Given the description of an element on the screen output the (x, y) to click on. 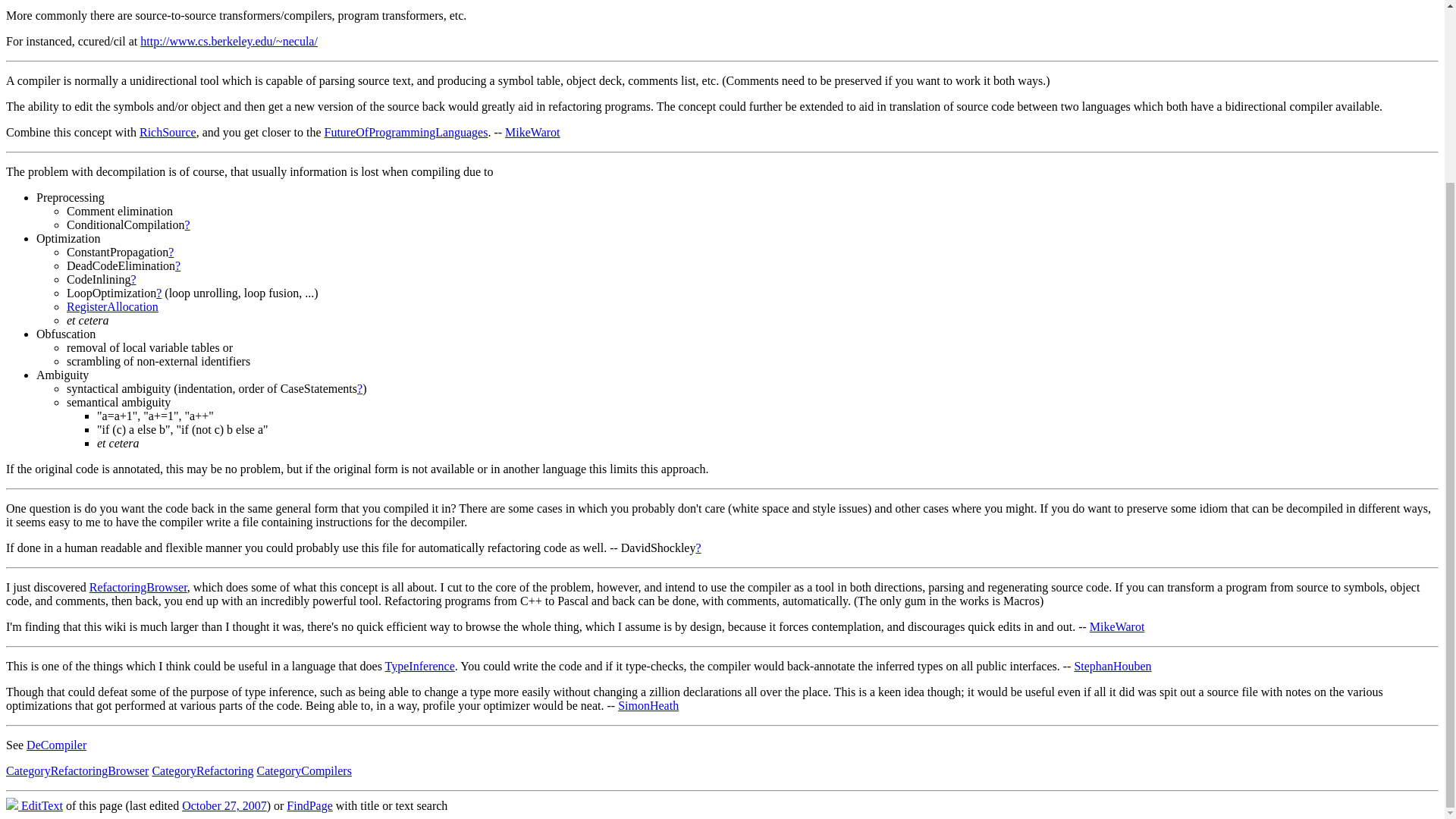
EditText (33, 805)
SimonHeath (647, 705)
StephanHouben (1112, 666)
CategoryCompilers (304, 770)
FindPage (308, 805)
MikeWarot (1116, 626)
RichSource (167, 132)
MikeWarot (532, 132)
TypeInference (419, 666)
CategoryRefactoringBrowser (76, 770)
FutureOfProgrammingLanguages (405, 132)
RefactoringBrowser (137, 586)
RegisterAllocation (112, 306)
CategoryRefactoring (202, 770)
October 27, 2007 (224, 805)
